Given the description of an element on the screen output the (x, y) to click on. 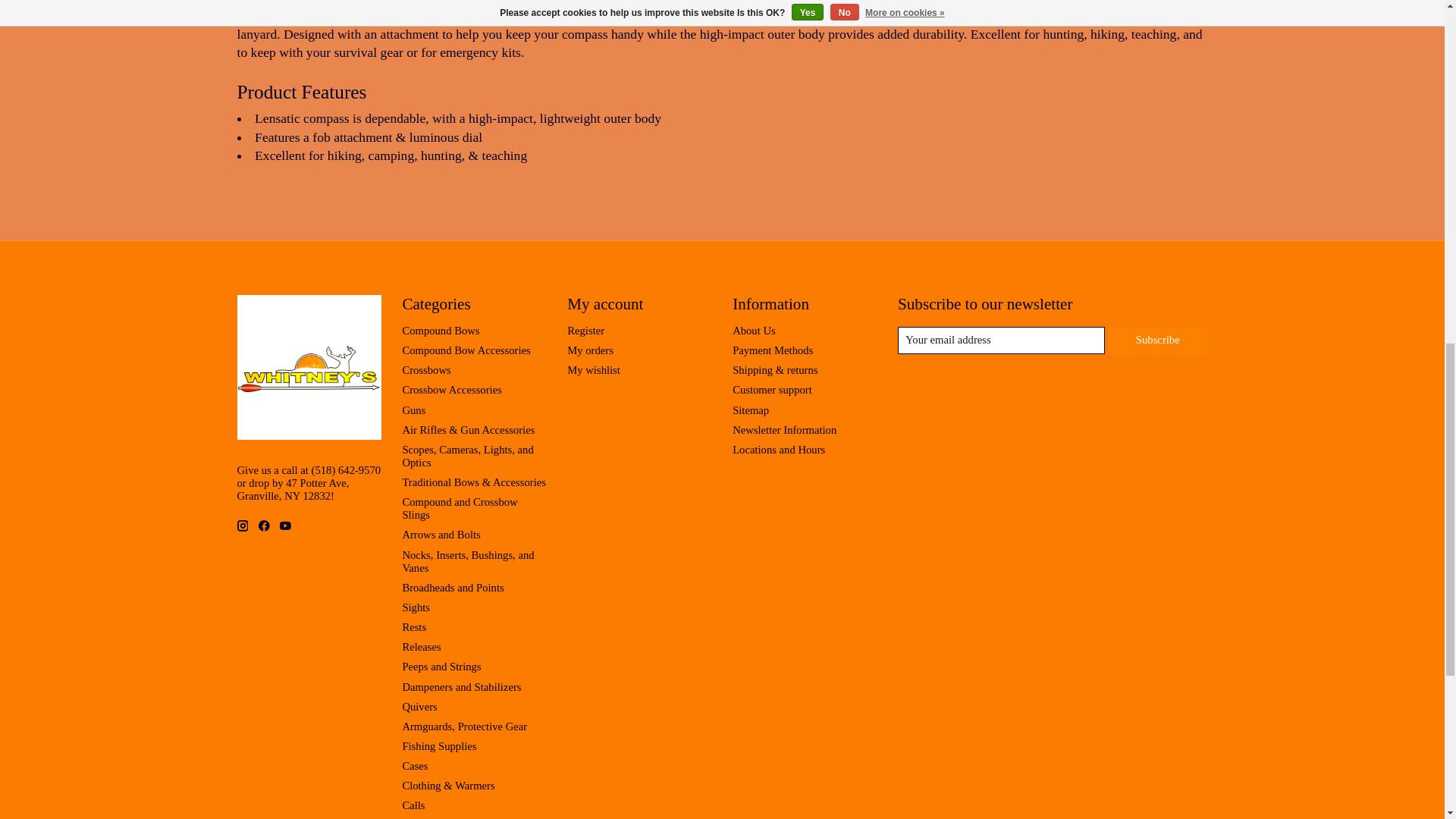
Register (585, 330)
Customer support (772, 389)
Payment Methods (772, 349)
About Us (754, 330)
My wishlist (593, 369)
My orders (589, 349)
Sitemap (750, 410)
